Given the description of an element on the screen output the (x, y) to click on. 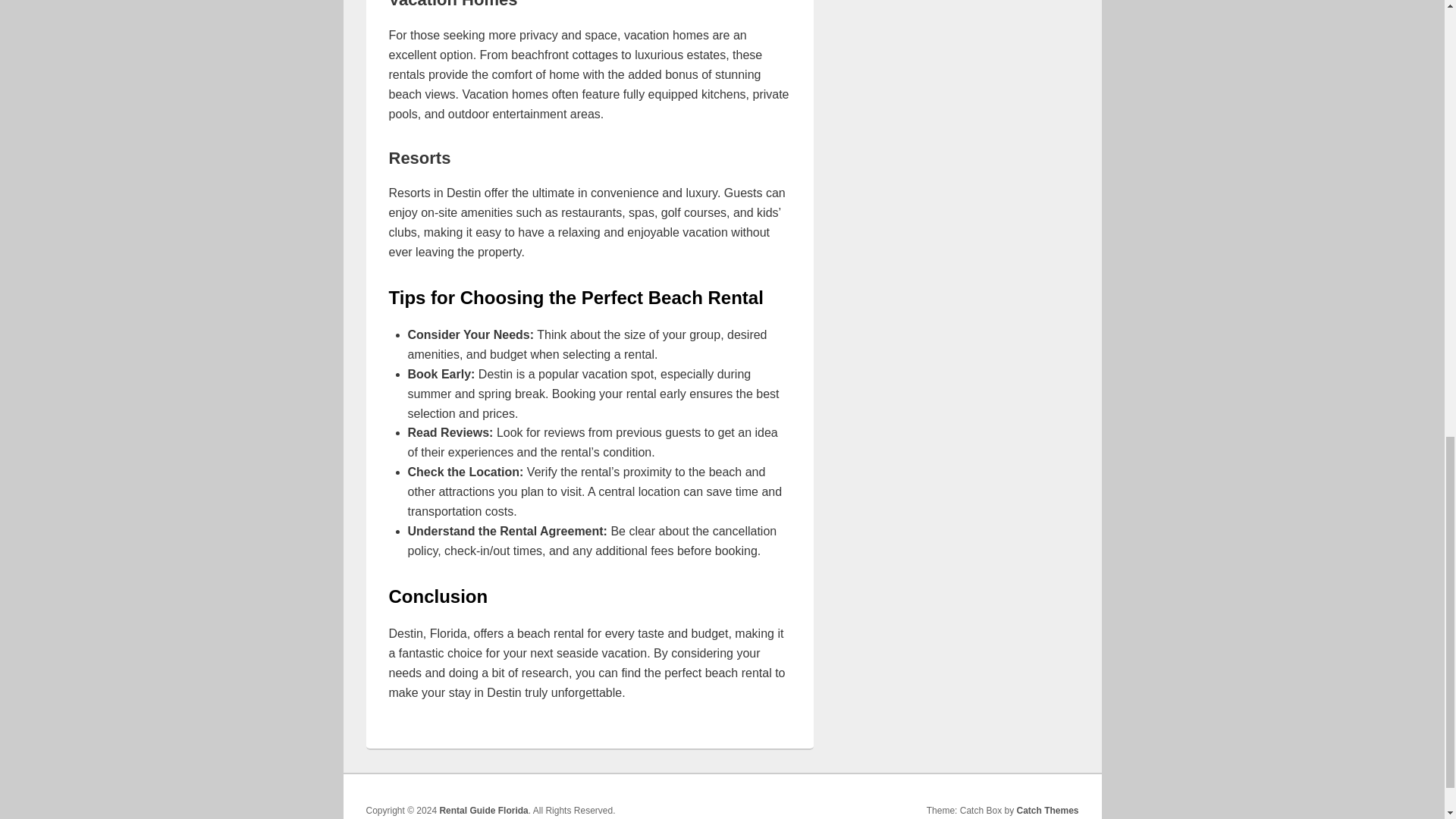
Catch Themes (1047, 810)
Catch Themes (1047, 810)
Rental Guide Florida (483, 810)
Rental Guide Florida (483, 810)
